Given the description of an element on the screen output the (x, y) to click on. 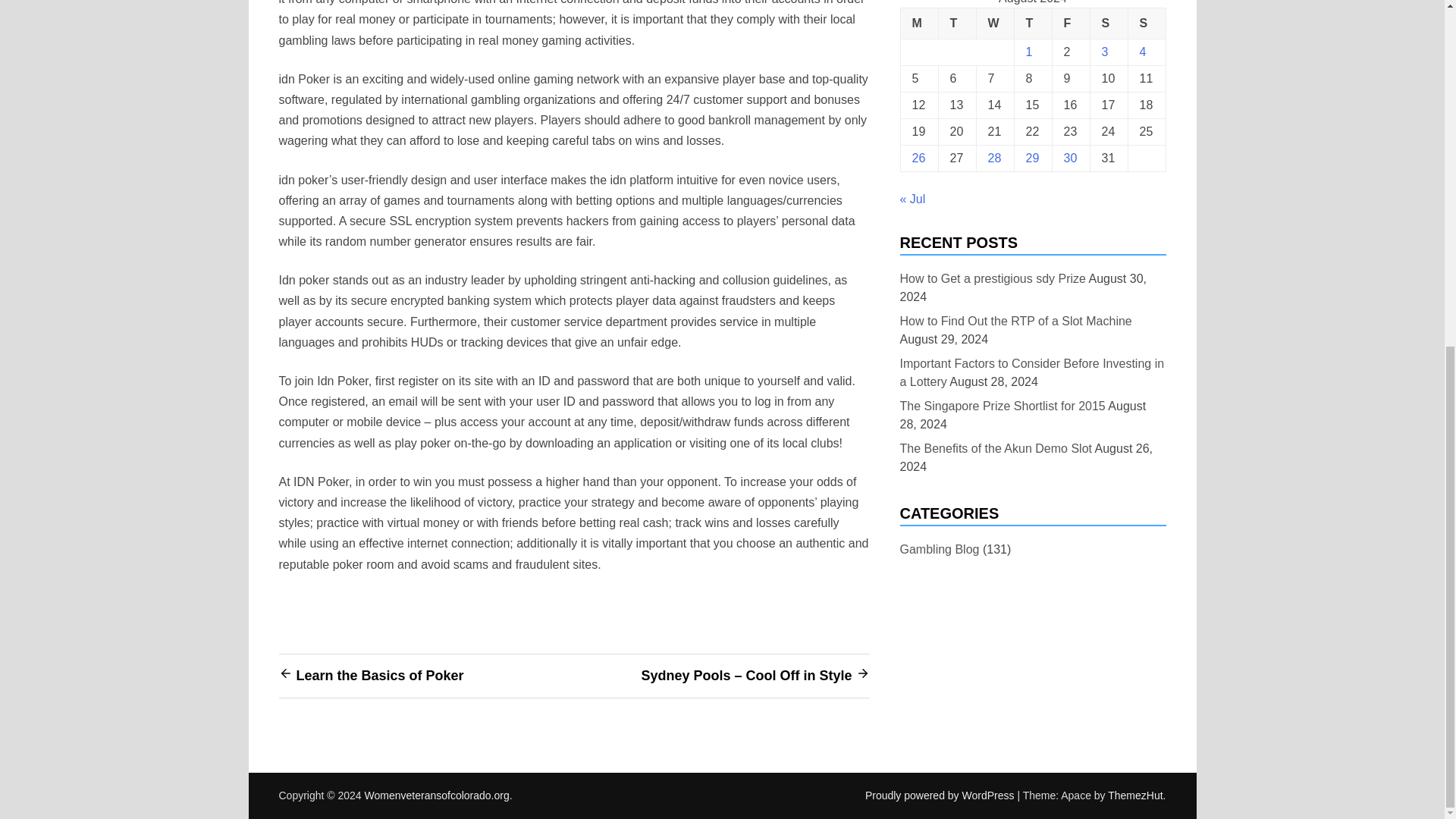
Womenveteransofcolorado.org (437, 795)
Gambling Blog (938, 548)
26 (917, 157)
29 (1032, 157)
How to Find Out the RTP of a Slot Machine (1015, 321)
Wednesday (994, 22)
How to Get a prestigious sdy Prize (991, 278)
Friday (1070, 22)
Womenveteransofcolorado.org (437, 795)
Monday (918, 22)
